Given the description of an element on the screen output the (x, y) to click on. 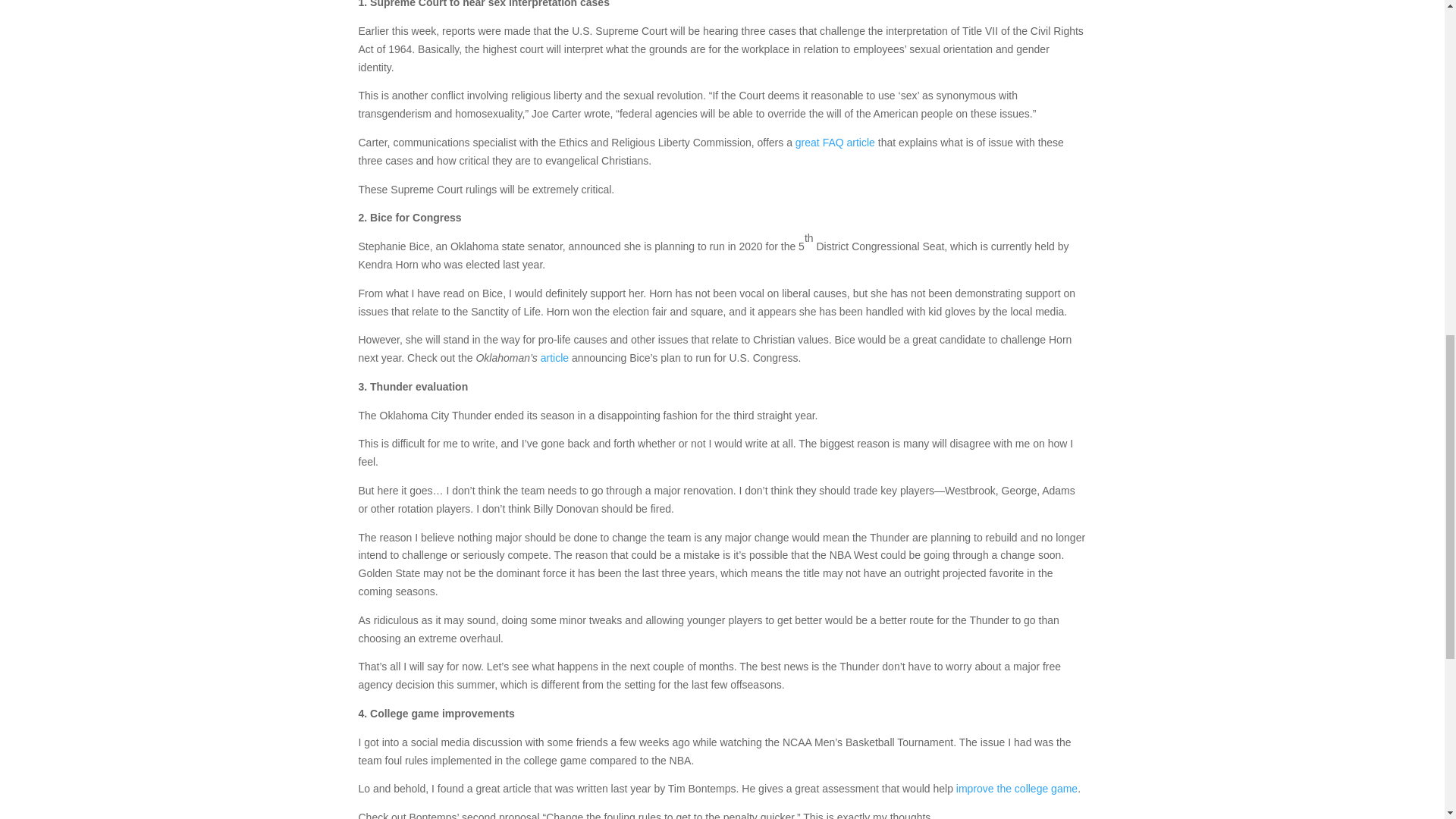
improve the college game (1016, 788)
great FAQ article (834, 142)
article (554, 357)
